Given the description of an element on the screen output the (x, y) to click on. 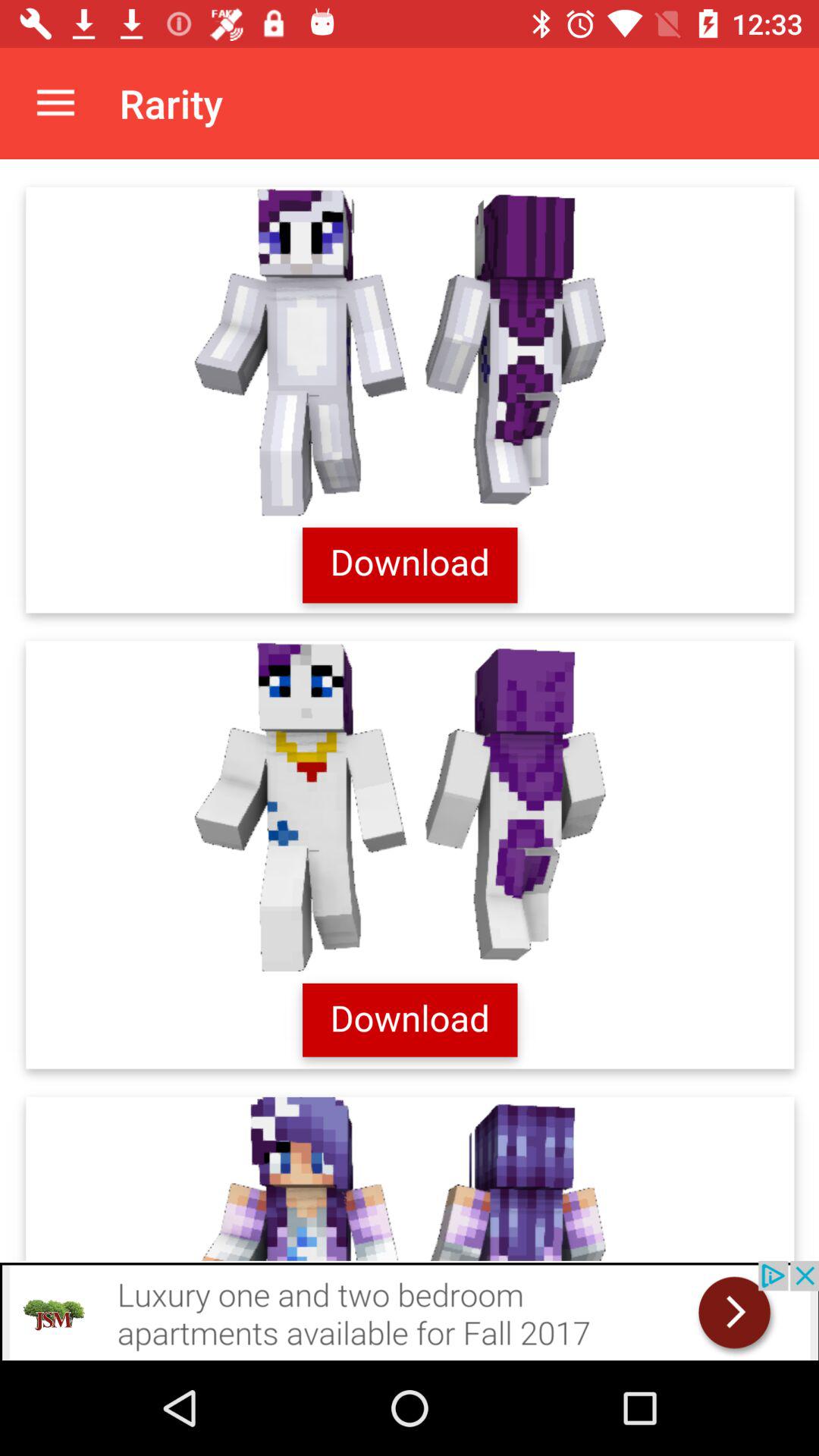
advertisement (409, 709)
